Given the description of an element on the screen output the (x, y) to click on. 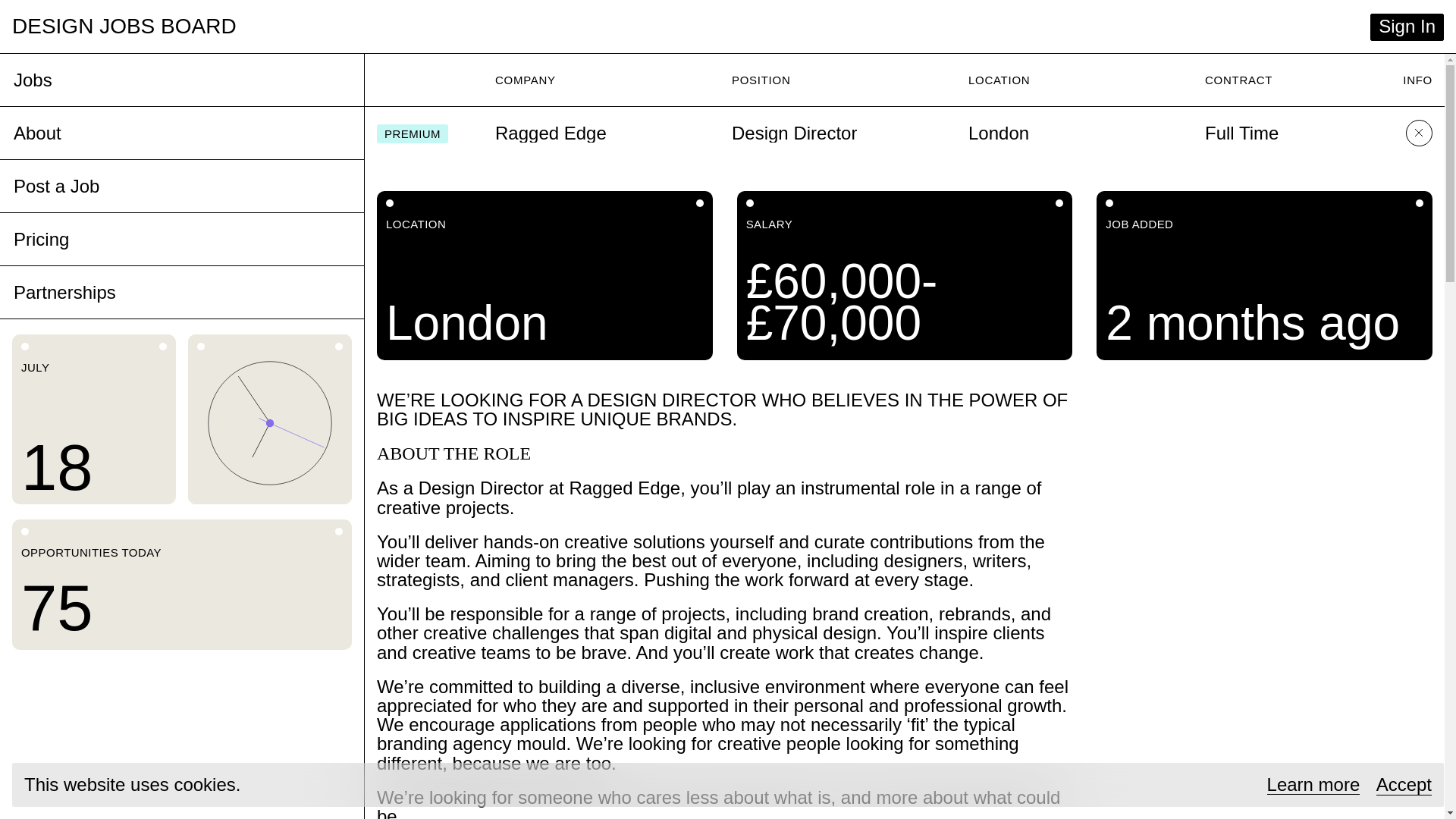
Learn more (1312, 784)
About (37, 133)
Jobs (32, 80)
Partnerships (64, 292)
Sign In (1407, 26)
Pricing (40, 239)
Post a Job (56, 186)
Accept (1403, 784)
DESIGN JOBS BOARD (123, 26)
